Given the description of an element on the screen output the (x, y) to click on. 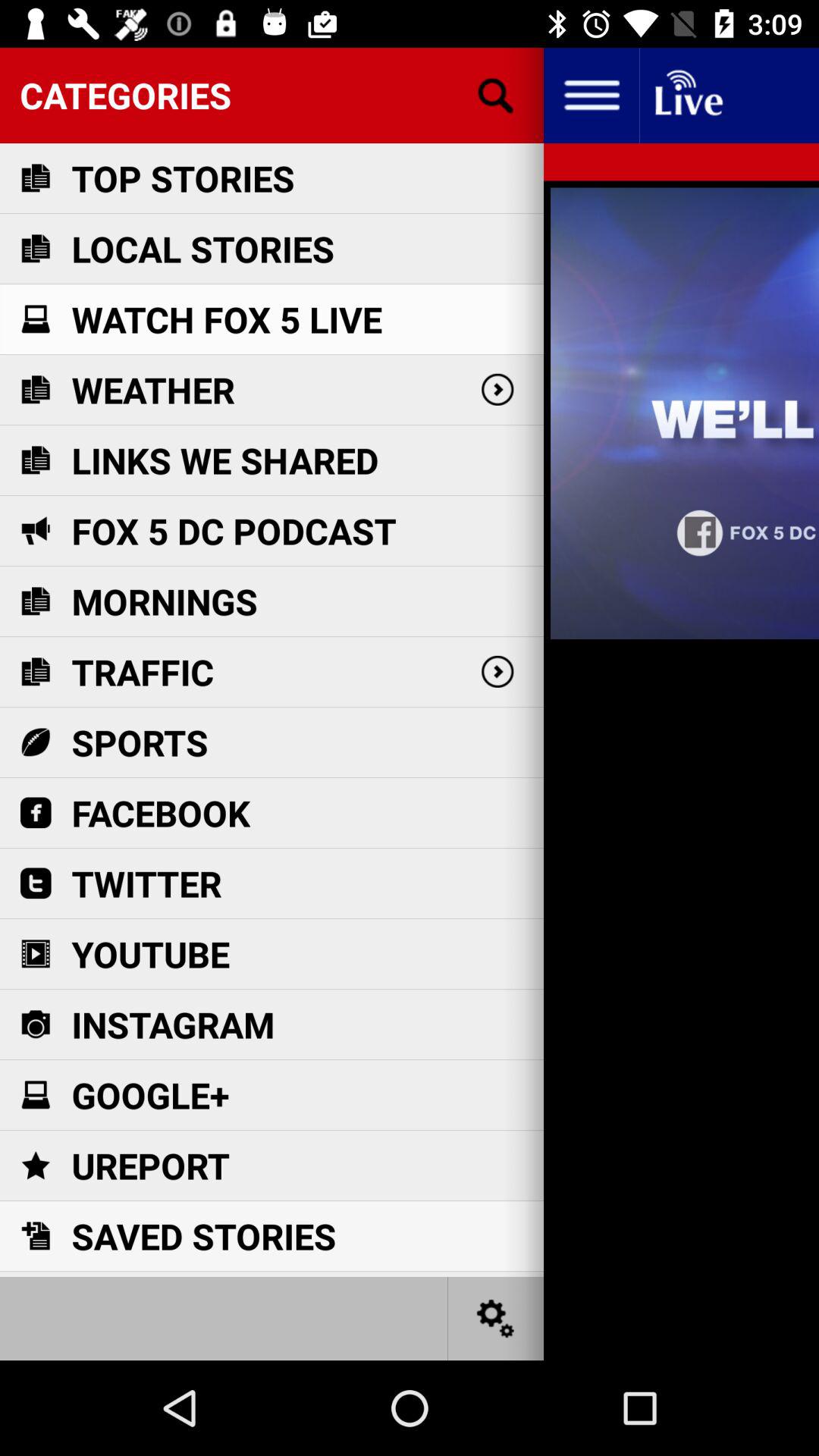
click item above ureport (150, 1094)
